Given the description of an element on the screen output the (x, y) to click on. 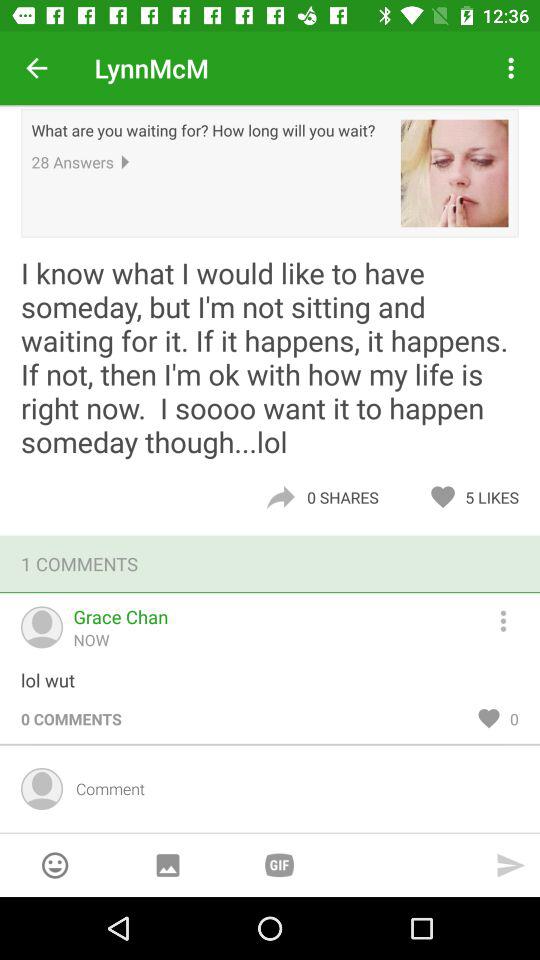
add gif (279, 864)
